Given the description of an element on the screen output the (x, y) to click on. 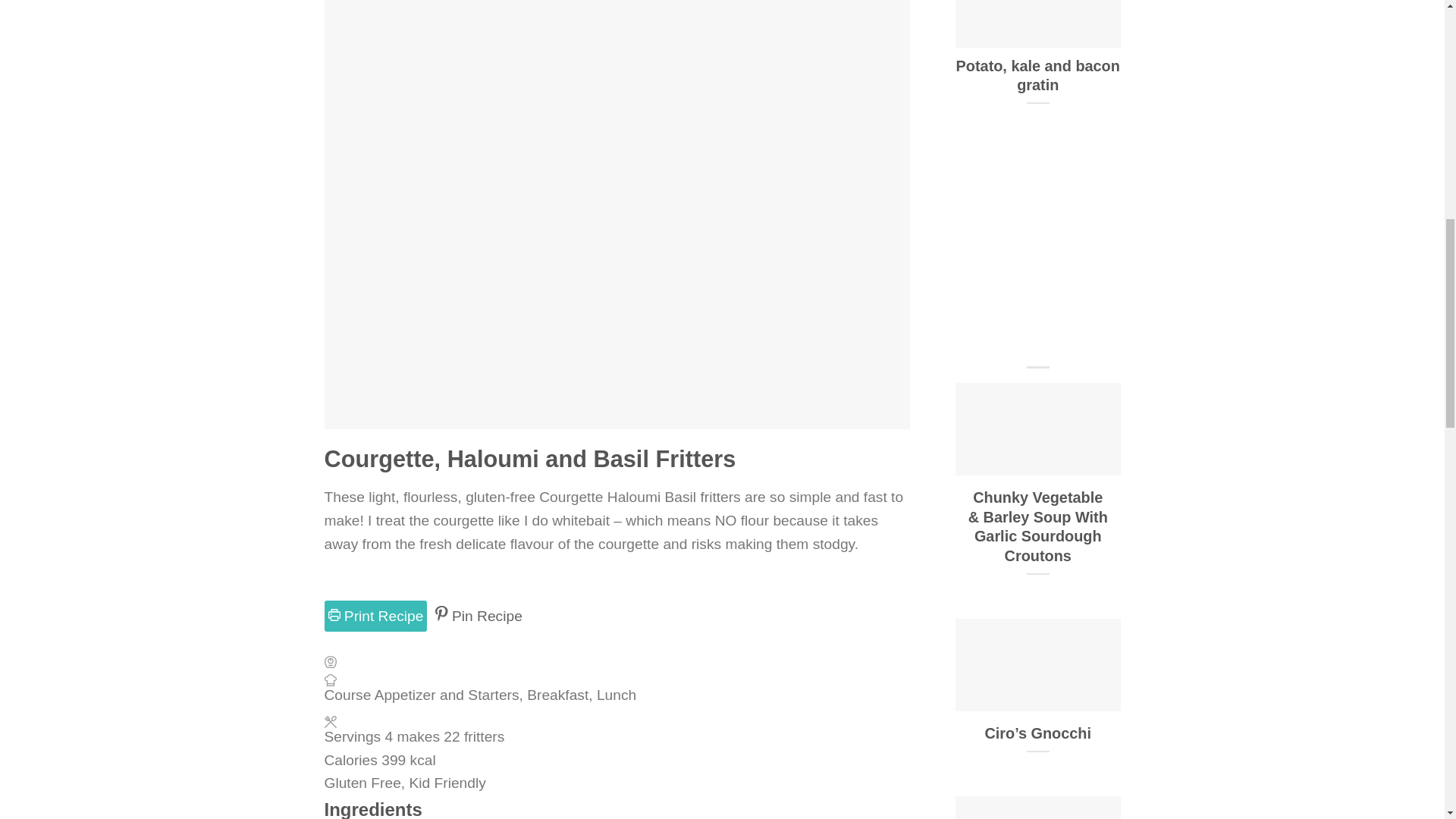
Potato, kale and bacon gratin (1038, 52)
Print Recipe (376, 615)
Pin Recipe (477, 615)
